Given the description of an element on the screen output the (x, y) to click on. 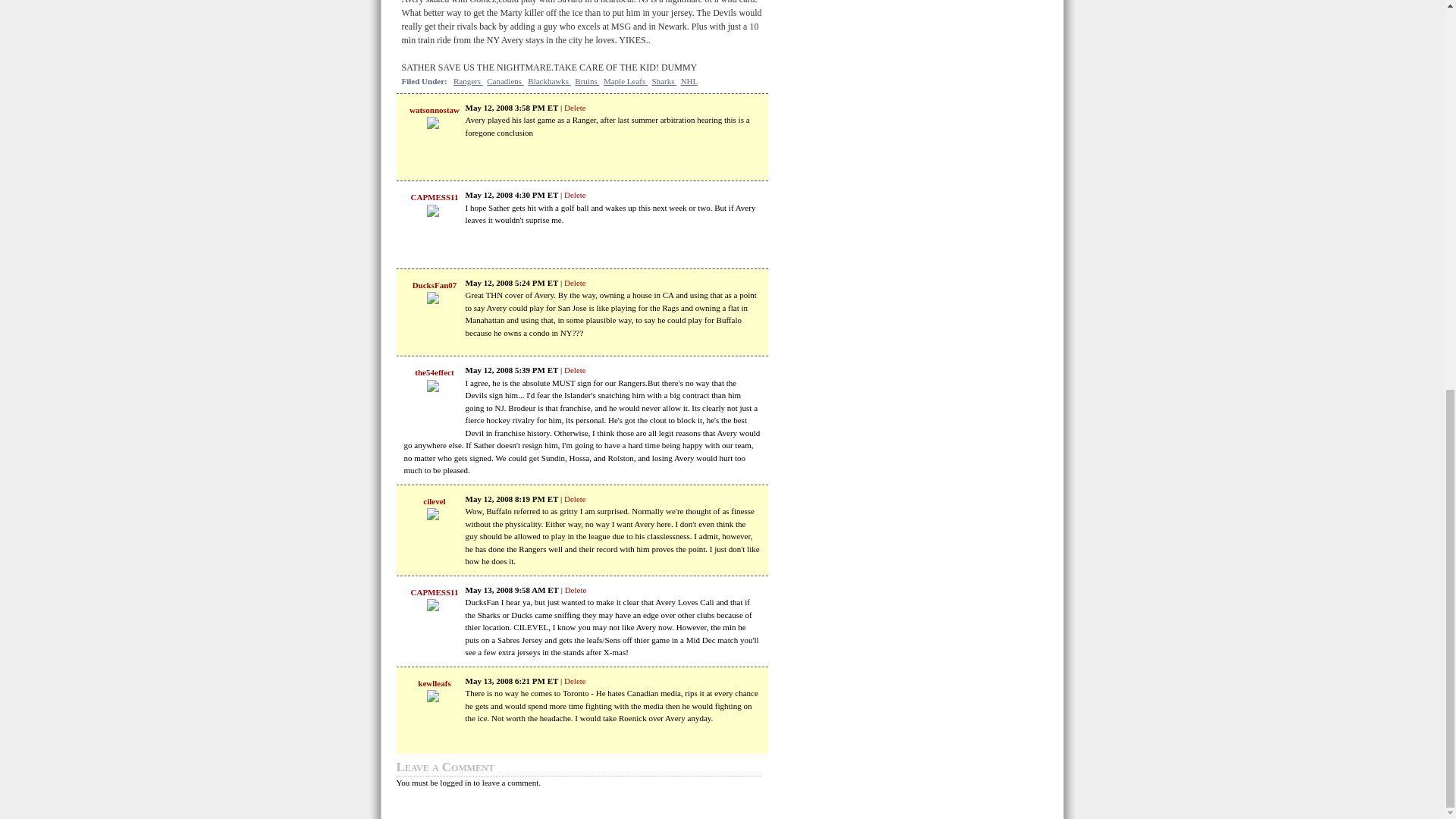
Bruins (586, 80)
Rangers (467, 80)
Canadiens (505, 80)
cilevel (434, 501)
CAPMESS11 (434, 592)
watsonnostaw (434, 109)
Blackhawks (548, 80)
Delete (575, 369)
Delete (575, 588)
Delete (575, 194)
Delete (575, 497)
NHL (689, 80)
CAPMESS11 (434, 196)
the54effect (433, 371)
Maple Leafs (625, 80)
